Given the description of an element on the screen output the (x, y) to click on. 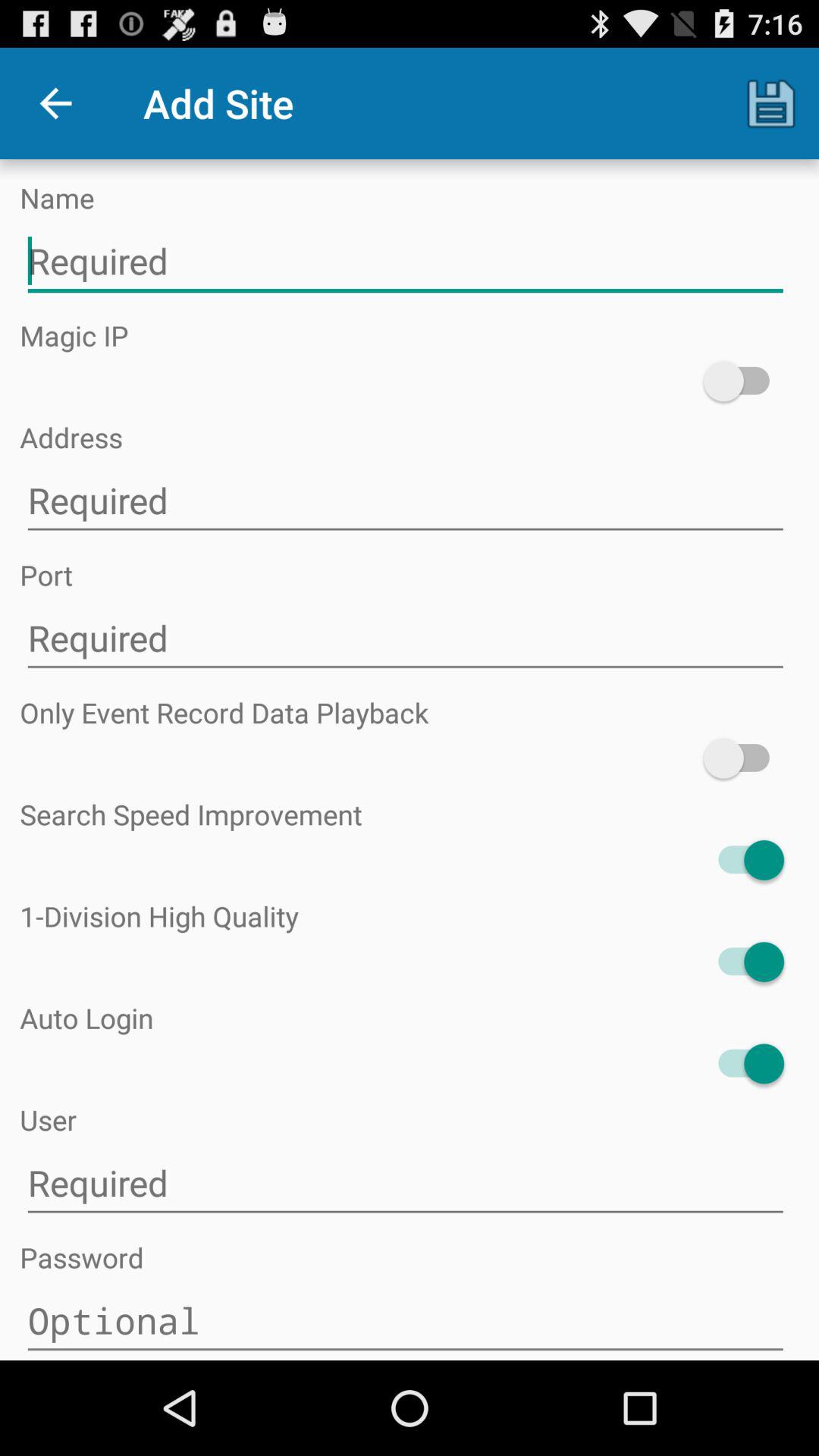
open the icon above password (405, 1183)
